Given the description of an element on the screen output the (x, y) to click on. 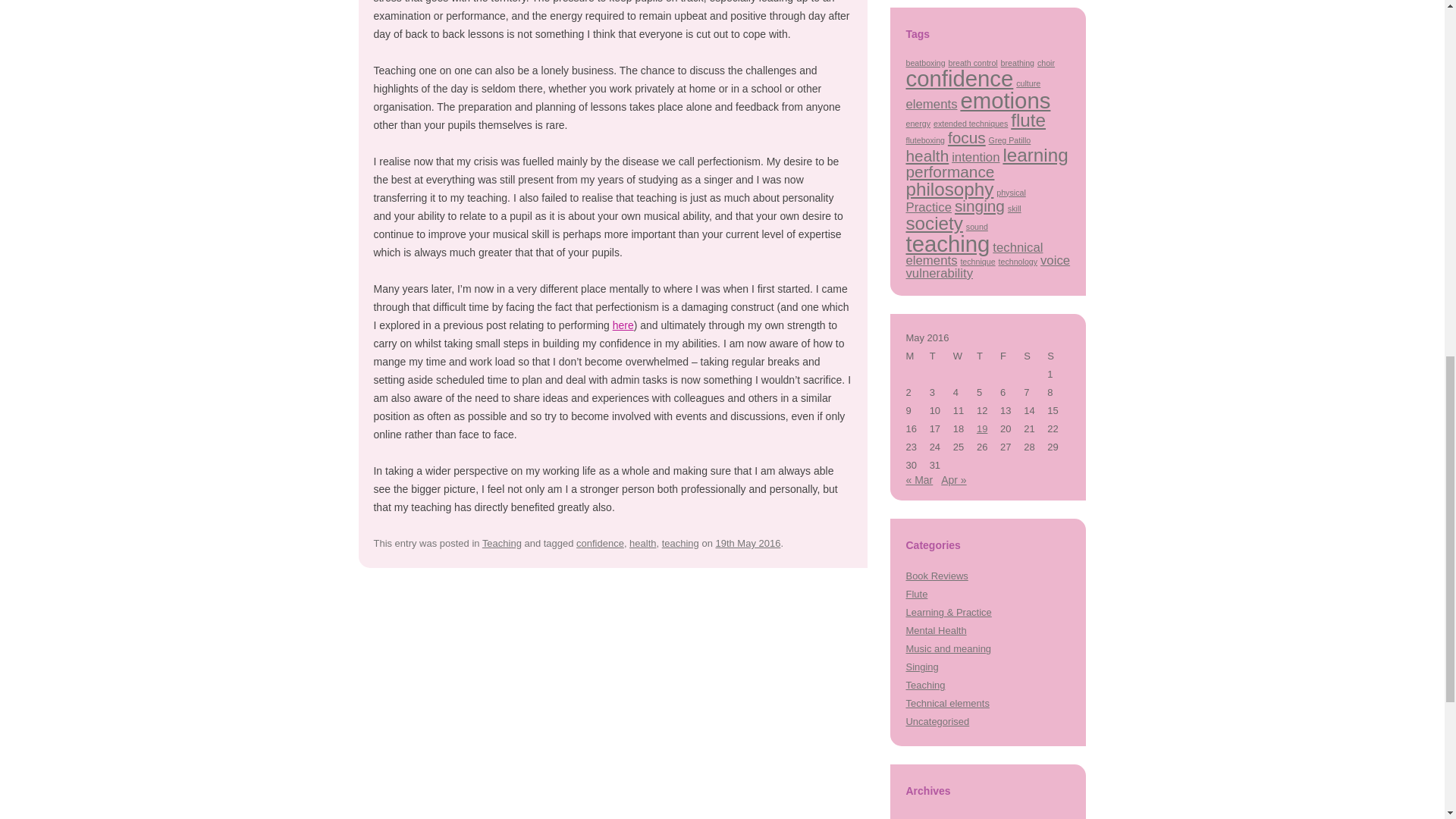
Monday (916, 356)
culture (1028, 82)
Wednesday (964, 356)
breath control (973, 62)
energy (917, 122)
Thursday (988, 356)
health (642, 542)
teaching (680, 542)
emotions (1004, 100)
beatboxing (924, 62)
